Given the description of an element on the screen output the (x, y) to click on. 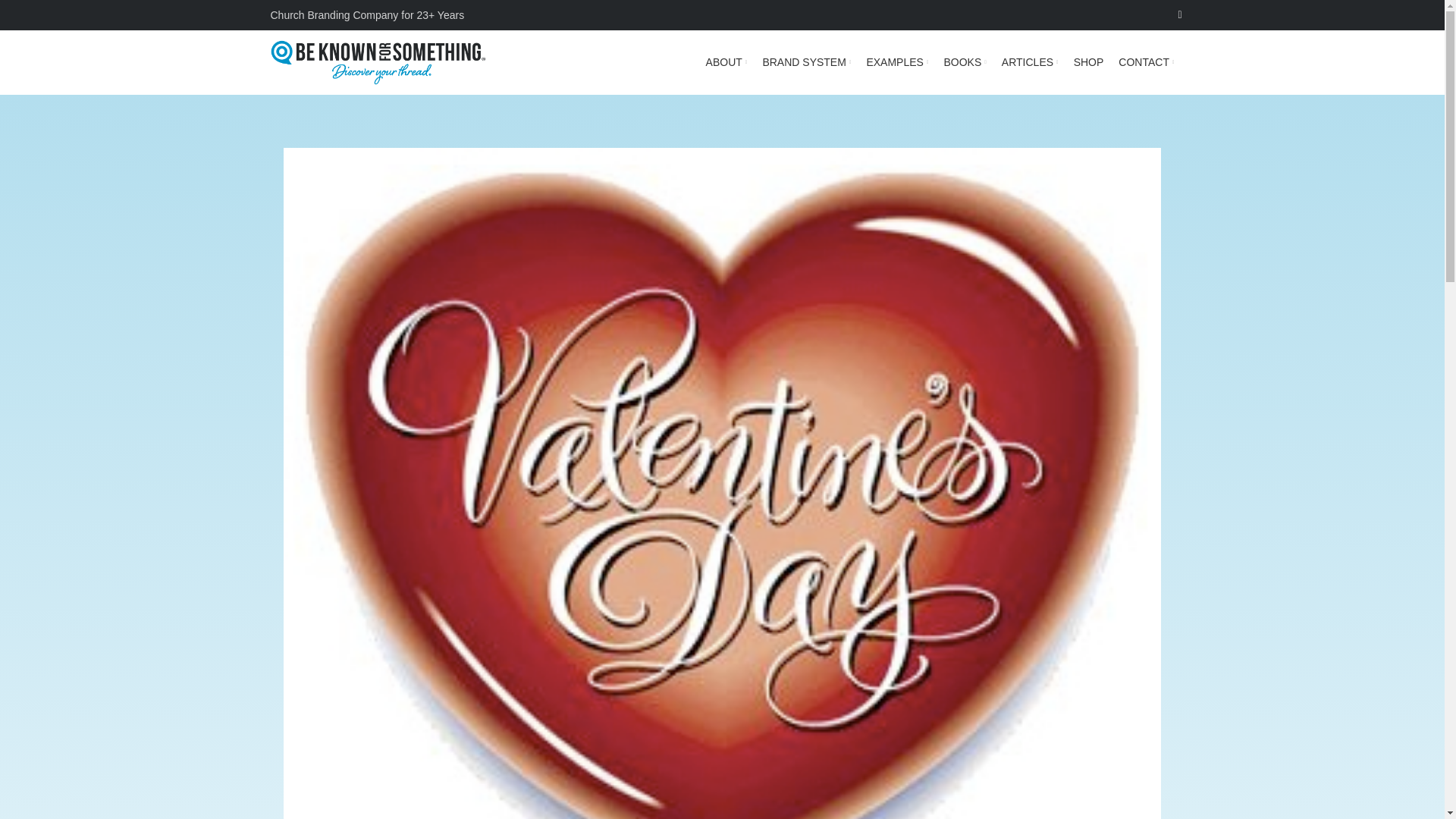
BOOKS (964, 61)
ARTICLES (1029, 61)
EXAMPLES (897, 61)
BRAND SYSTEM (805, 61)
CONTACT (1145, 61)
SHOP (1088, 61)
ABOUT (727, 61)
